Given the description of an element on the screen output the (x, y) to click on. 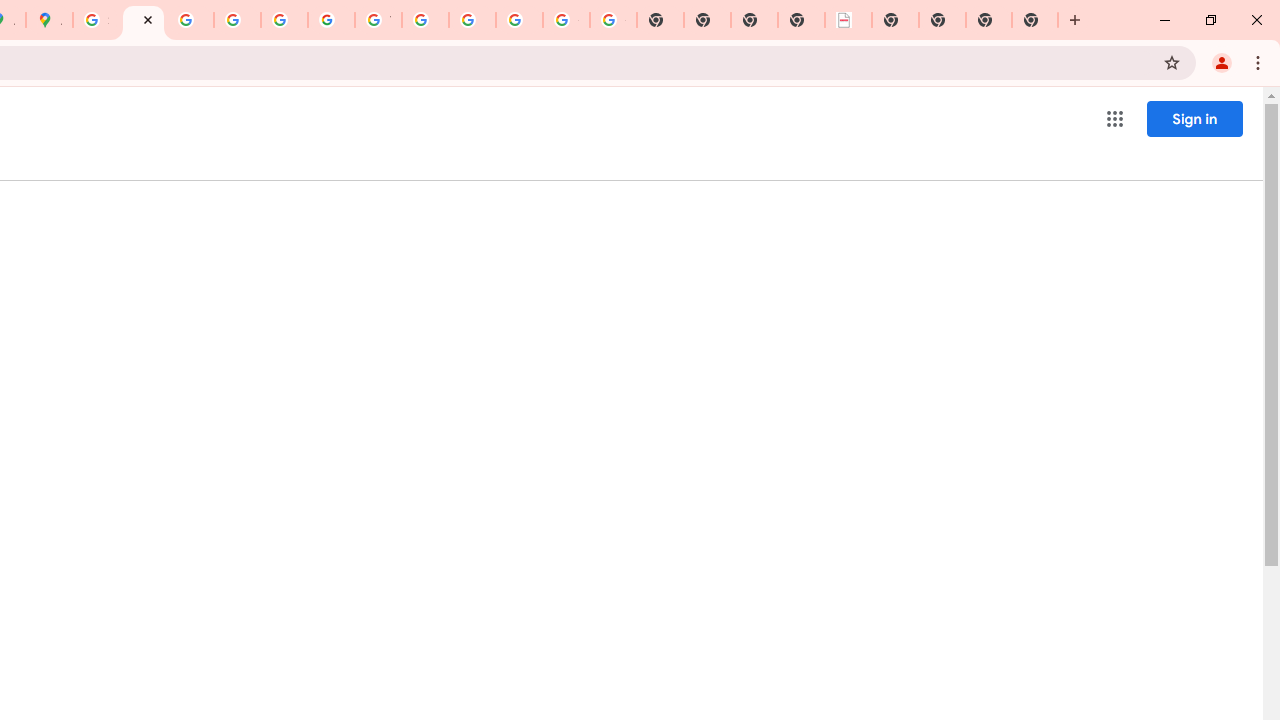
New Tab (1035, 20)
